Given the description of an element on the screen output the (x, y) to click on. 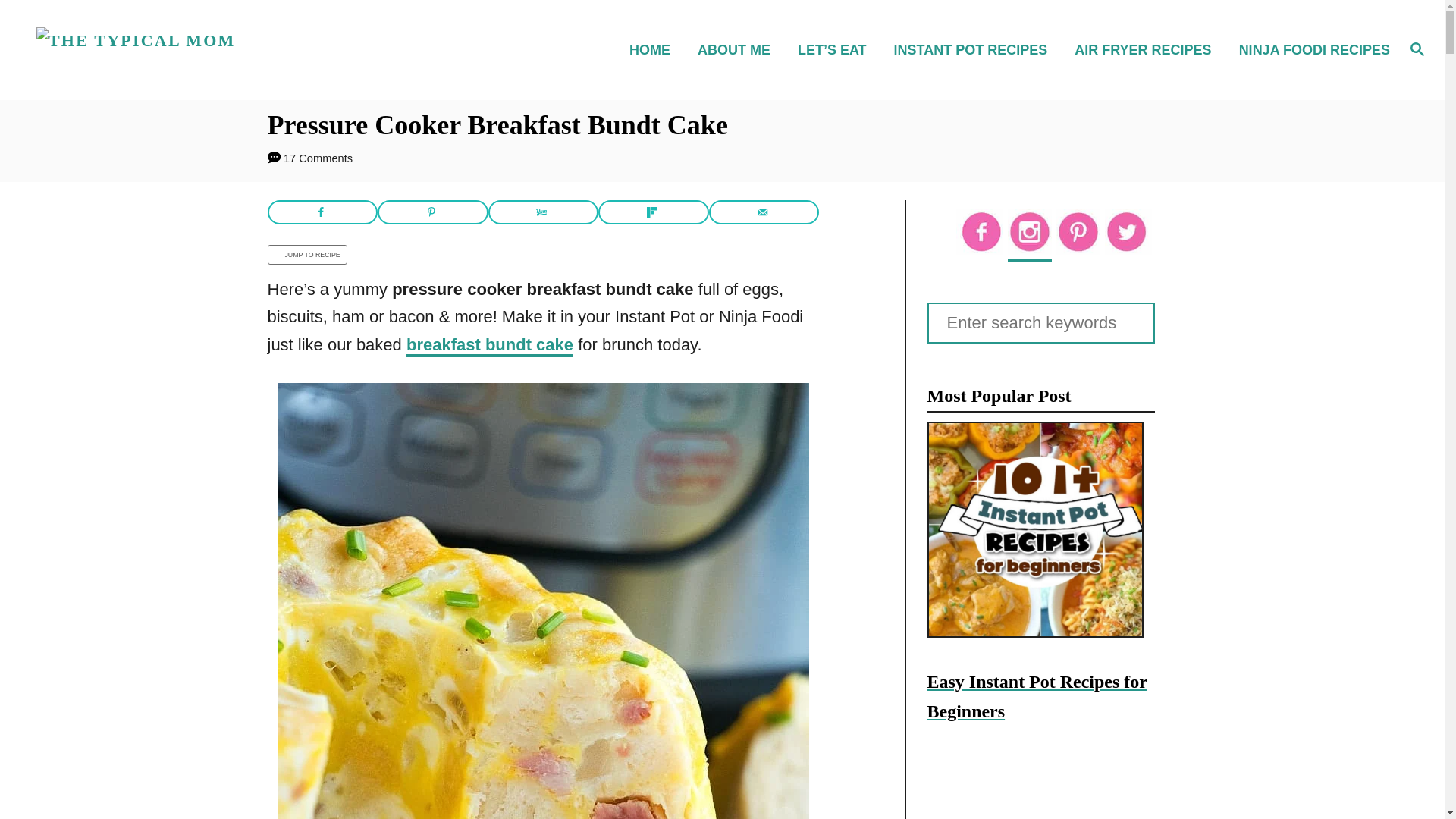
Share on Yummly (542, 211)
Share on Flipboard (653, 211)
HOME (654, 49)
Magnifying Glass (1416, 48)
ABOUT ME (738, 49)
Share on Facebook (321, 211)
The Typical Mom (204, 49)
Send over email (764, 211)
Save to Pinterest (432, 211)
